Given the description of an element on the screen output the (x, y) to click on. 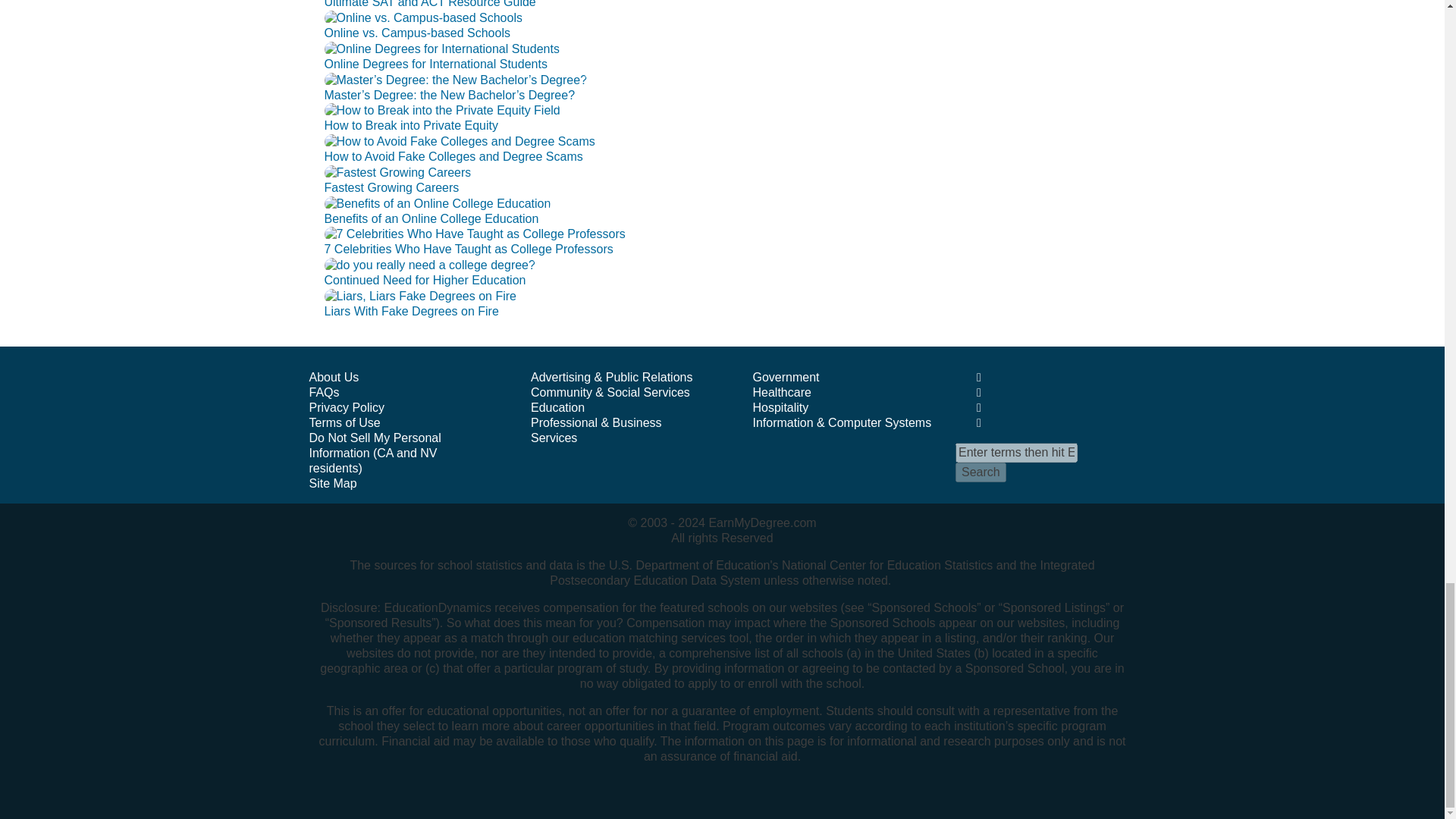
Search (980, 472)
Enter terms then hit Enter... (1016, 452)
